Given the description of an element on the screen output the (x, y) to click on. 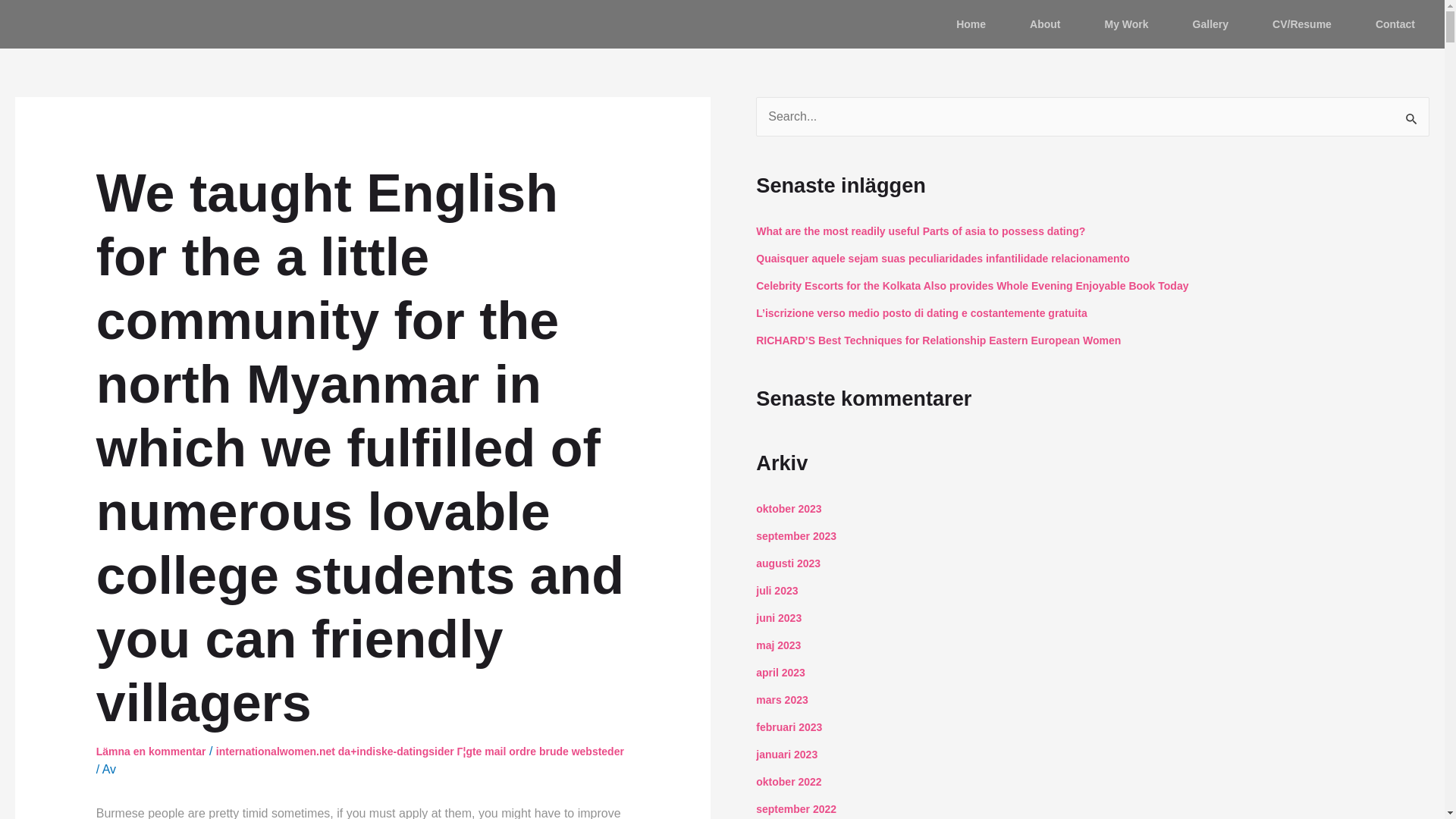
oktober 2023 (788, 508)
juli 2023 (776, 590)
februari 2023 (788, 727)
Contact (1395, 23)
mars 2023 (781, 699)
maj 2023 (777, 645)
januari 2023 (785, 754)
september 2022 (795, 808)
oktober 2022 (788, 781)
